Given the description of an element on the screen output the (x, y) to click on. 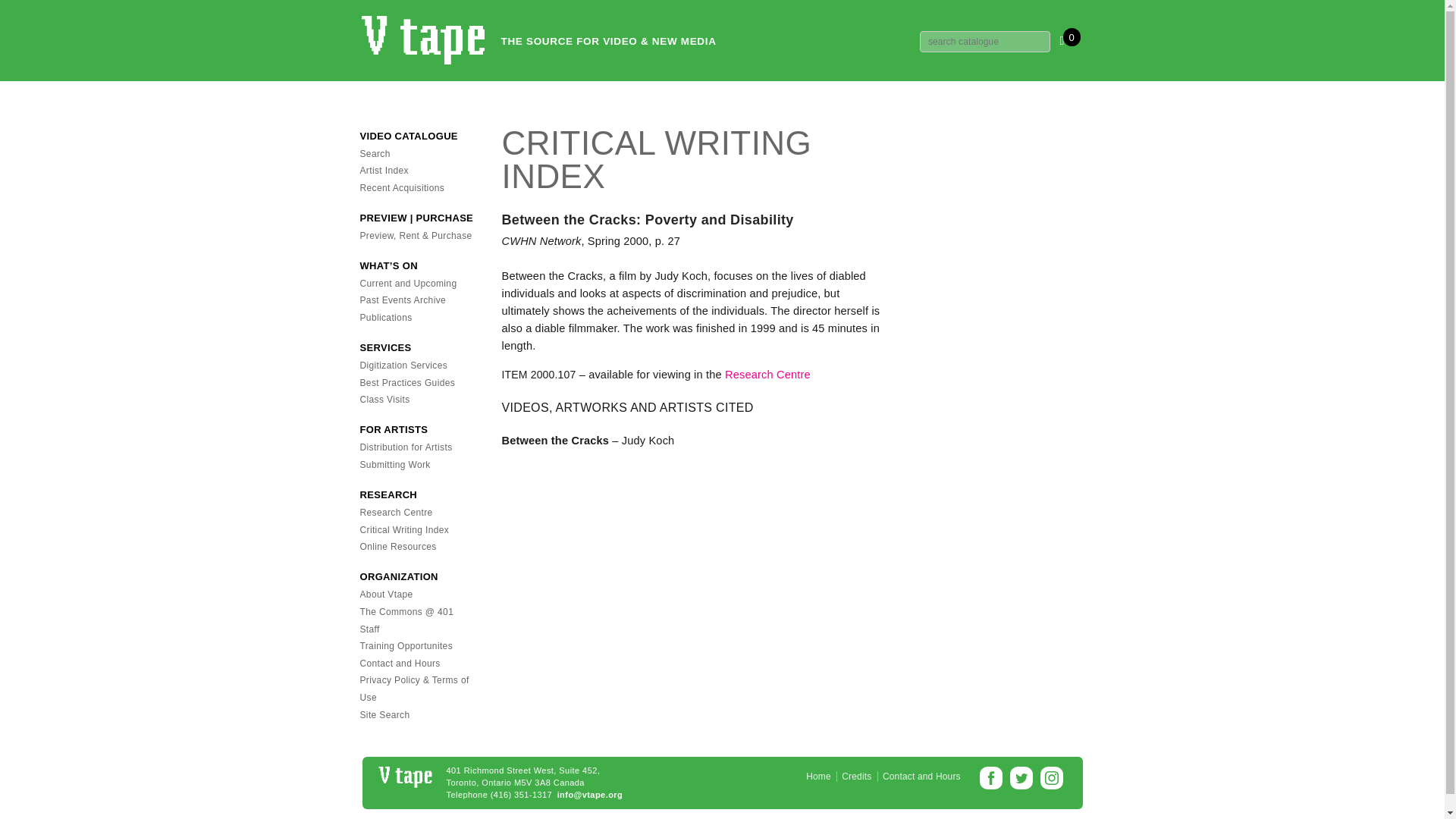
Artist Index (383, 170)
Current and Upcoming (408, 283)
Recent Acquisitions (401, 187)
Search (374, 153)
Search catalogue: (984, 41)
Critical Writing Index Search (403, 529)
Research Centre (767, 374)
Past Events Archive (402, 299)
Publications (385, 317)
